Given the description of an element on the screen output the (x, y) to click on. 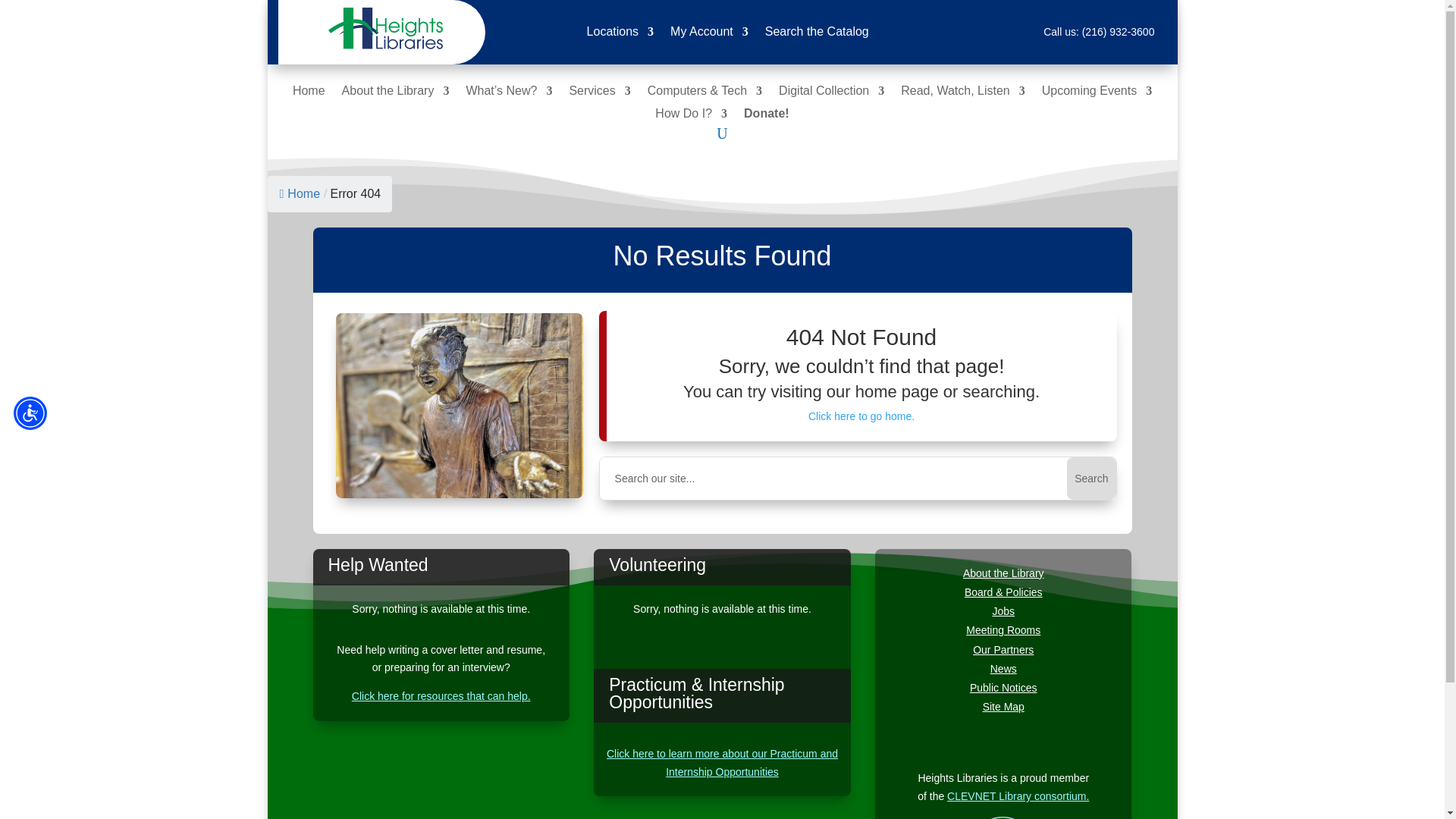
Search (1091, 478)
My Account (708, 34)
Accessibility Menu (29, 412)
Search (1091, 478)
Search the Catalog (817, 34)
Locations (619, 34)
harvey-shrug (459, 404)
About the Library (395, 93)
Home (308, 93)
